Given the description of an element on the screen output the (x, y) to click on. 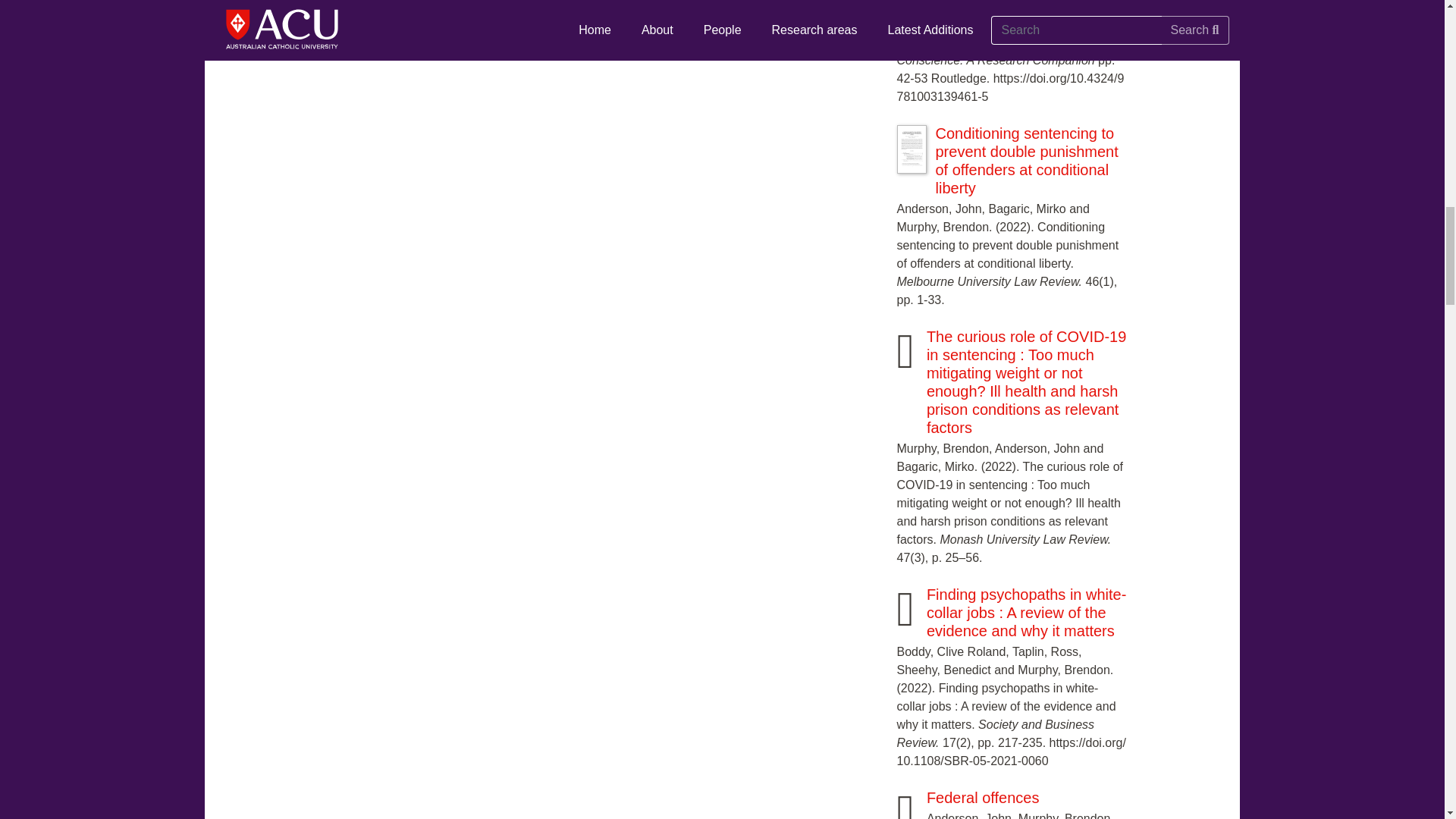
Federal offences (982, 797)
